Given the description of an element on the screen output the (x, y) to click on. 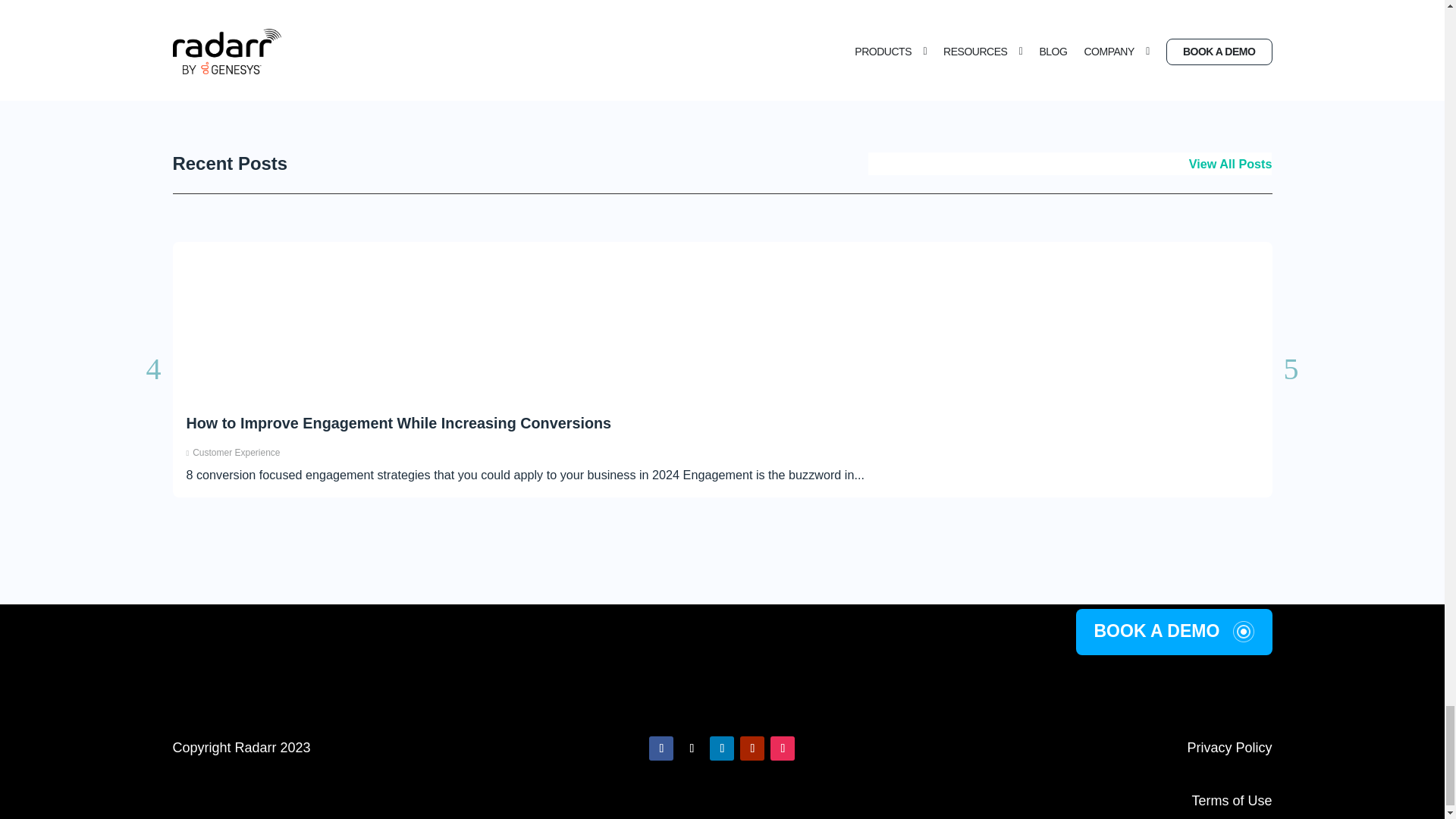
radar-logo-white (722, 694)
Follow on Facebook (660, 748)
Follow on LinkedIn (721, 748)
Follow on Youtube (751, 748)
How to Improve Engagement While Increasing Conversions (398, 422)
Follow on X (691, 748)
Follow on Instagram (782, 748)
